Given the description of an element on the screen output the (x, y) to click on. 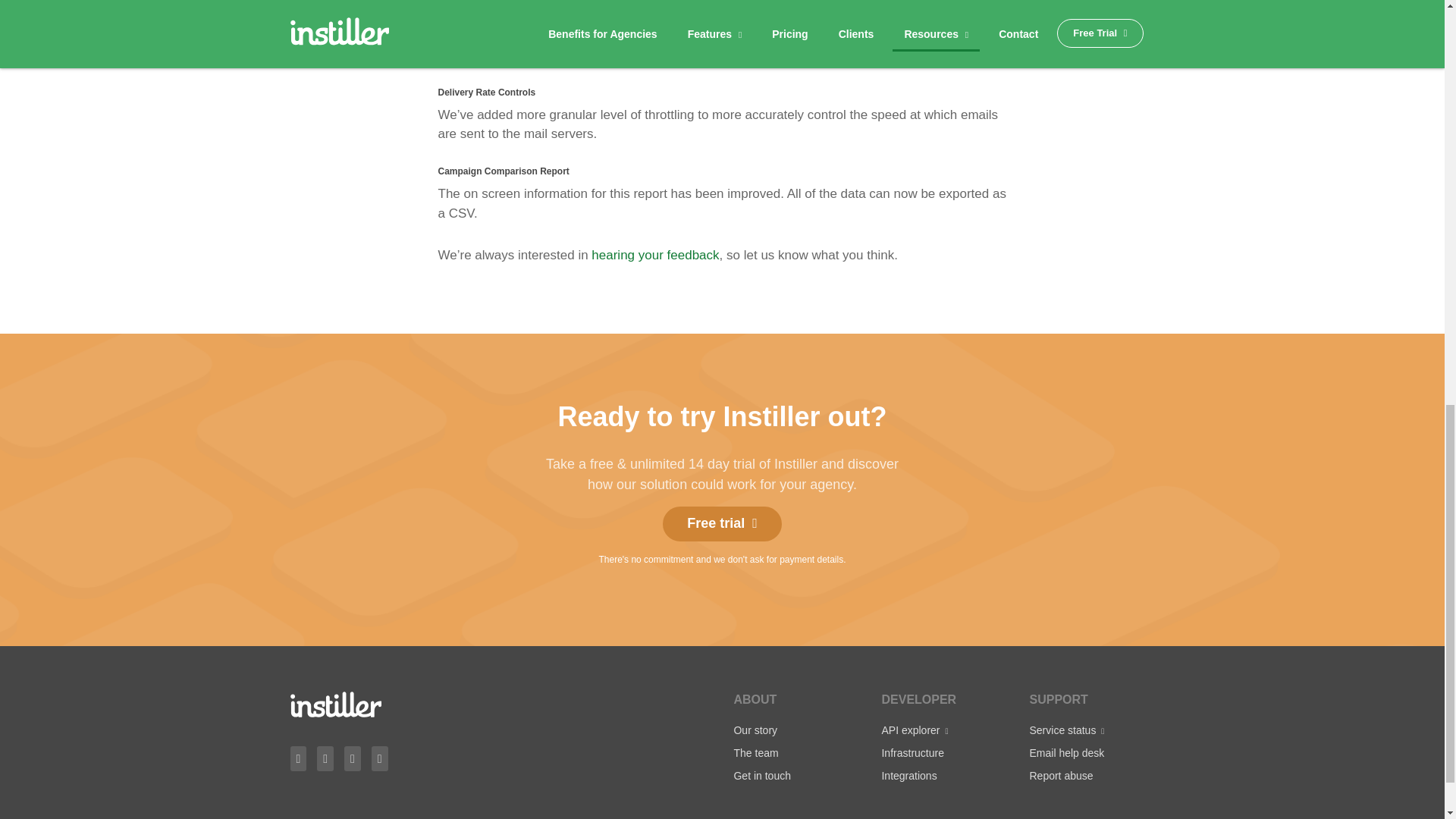
hearing your feedback (655, 255)
Free trial (721, 523)
